Given the description of an element on the screen output the (x, y) to click on. 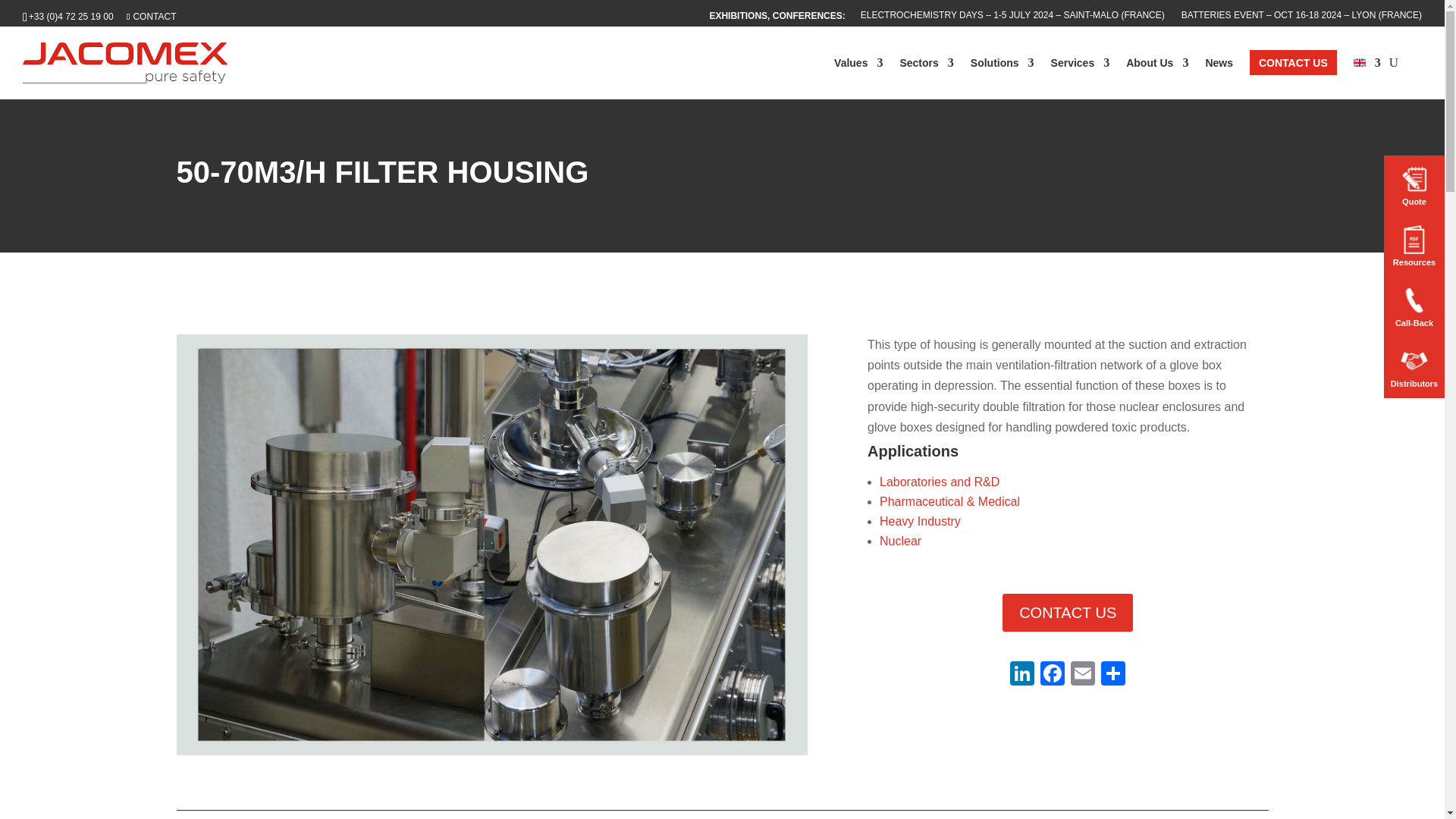
CONTACT (151, 16)
Email (1082, 674)
Facebook (1051, 674)
Solutions (1002, 62)
Jacomex-50-70m3-filter-housing (491, 754)
LinkedIn (1021, 674)
Sectors (926, 62)
